Given the description of an element on the screen output the (x, y) to click on. 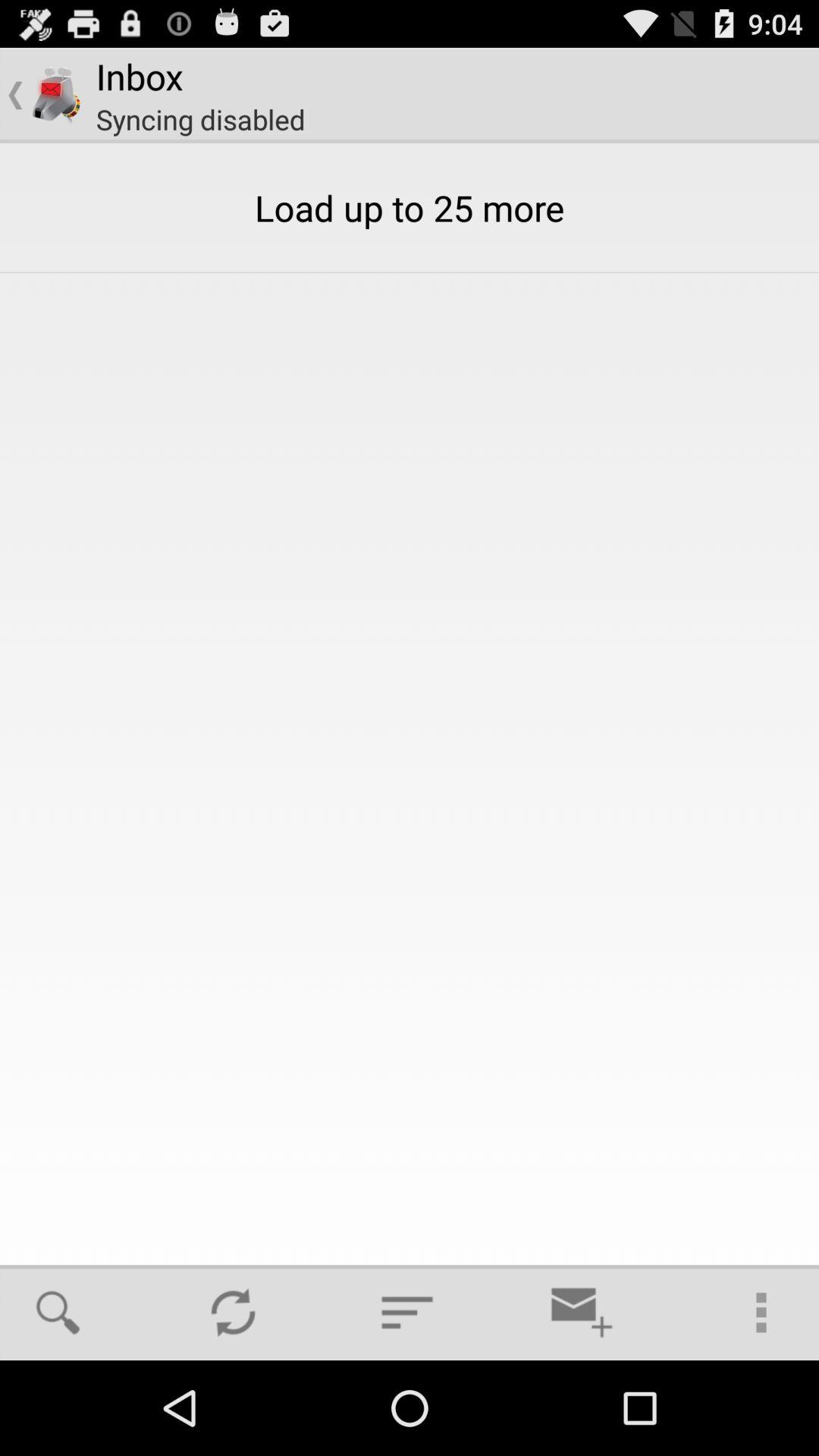
tap item below the load up to item (407, 1312)
